Given the description of an element on the screen output the (x, y) to click on. 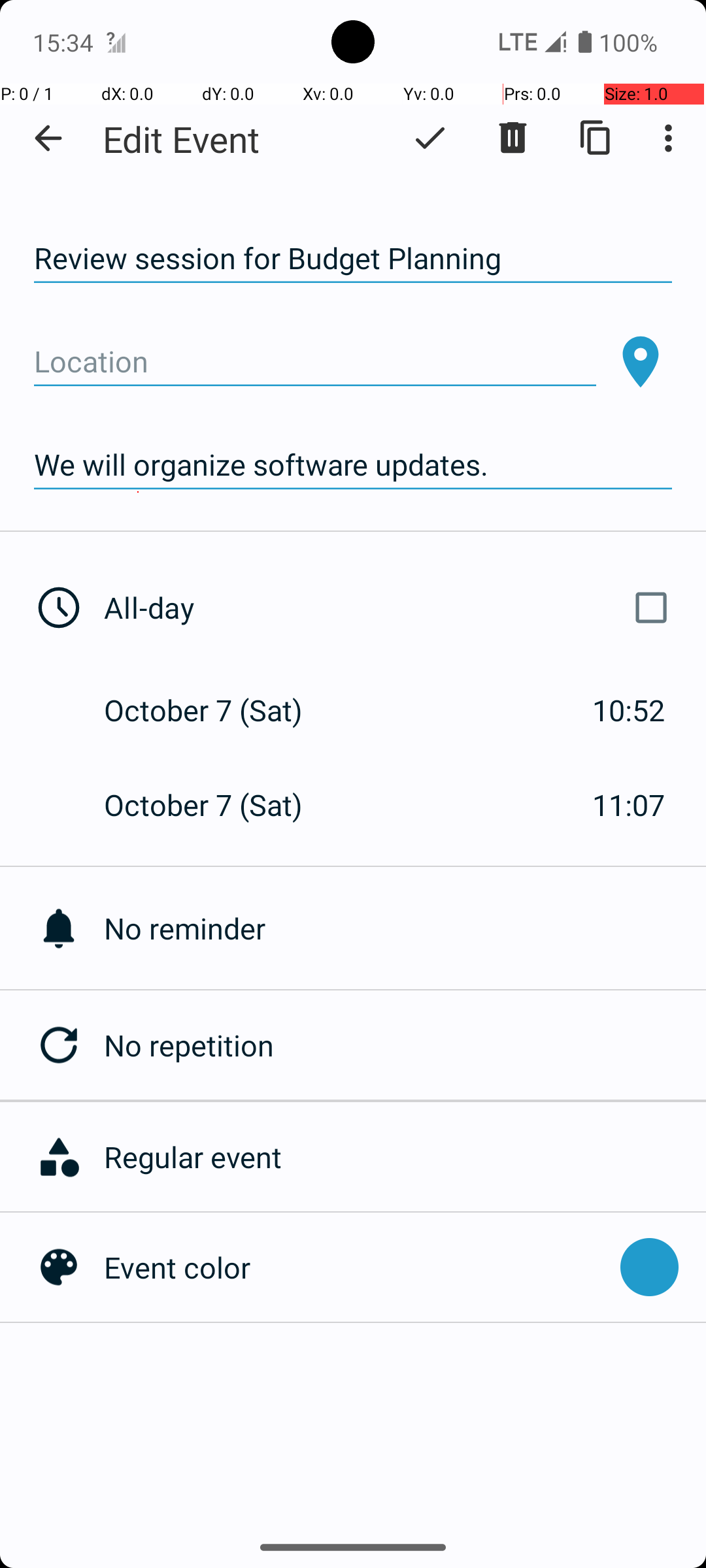
We will organize software updates. Element type: android.widget.EditText (352, 465)
October 7 (Sat) Element type: android.widget.TextView (216, 709)
10:52 Element type: android.widget.TextView (628, 709)
11:07 Element type: android.widget.TextView (628, 804)
